Given the description of an element on the screen output the (x, y) to click on. 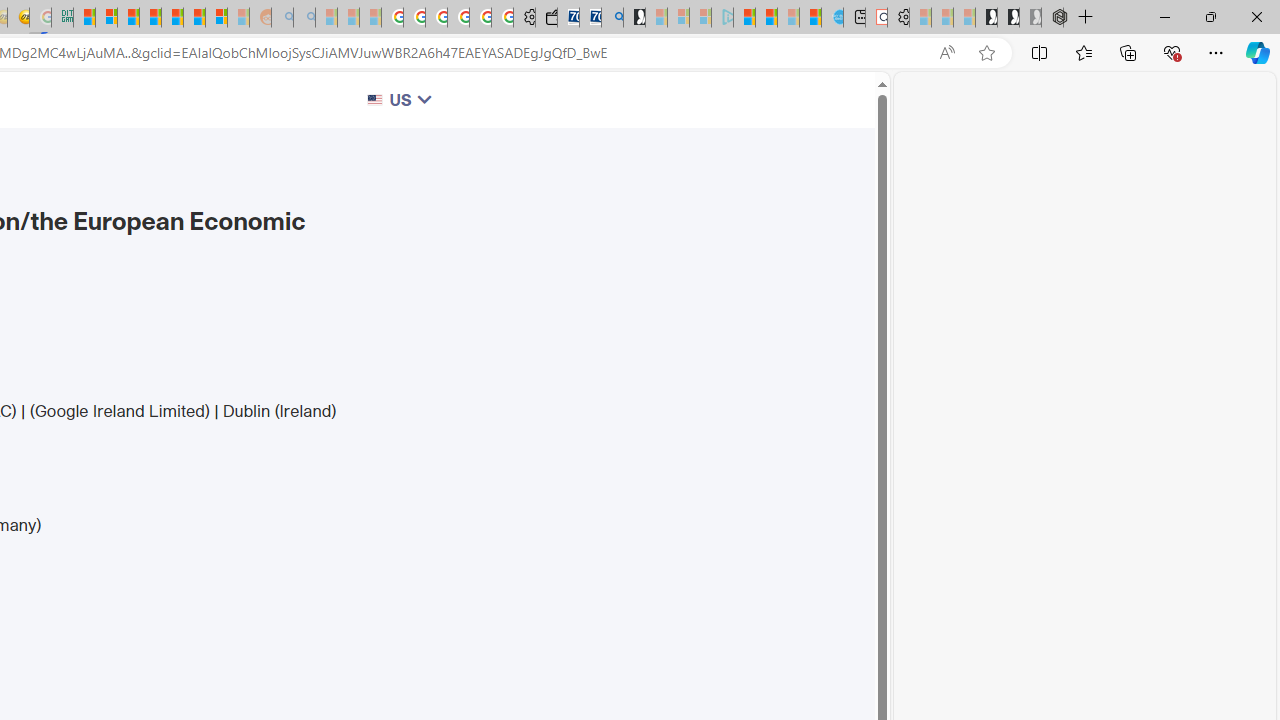
Kinda Frugal - MSN (194, 17)
Bing Real Estate - Home sales and rental listings (612, 17)
